Given the description of an element on the screen output the (x, y) to click on. 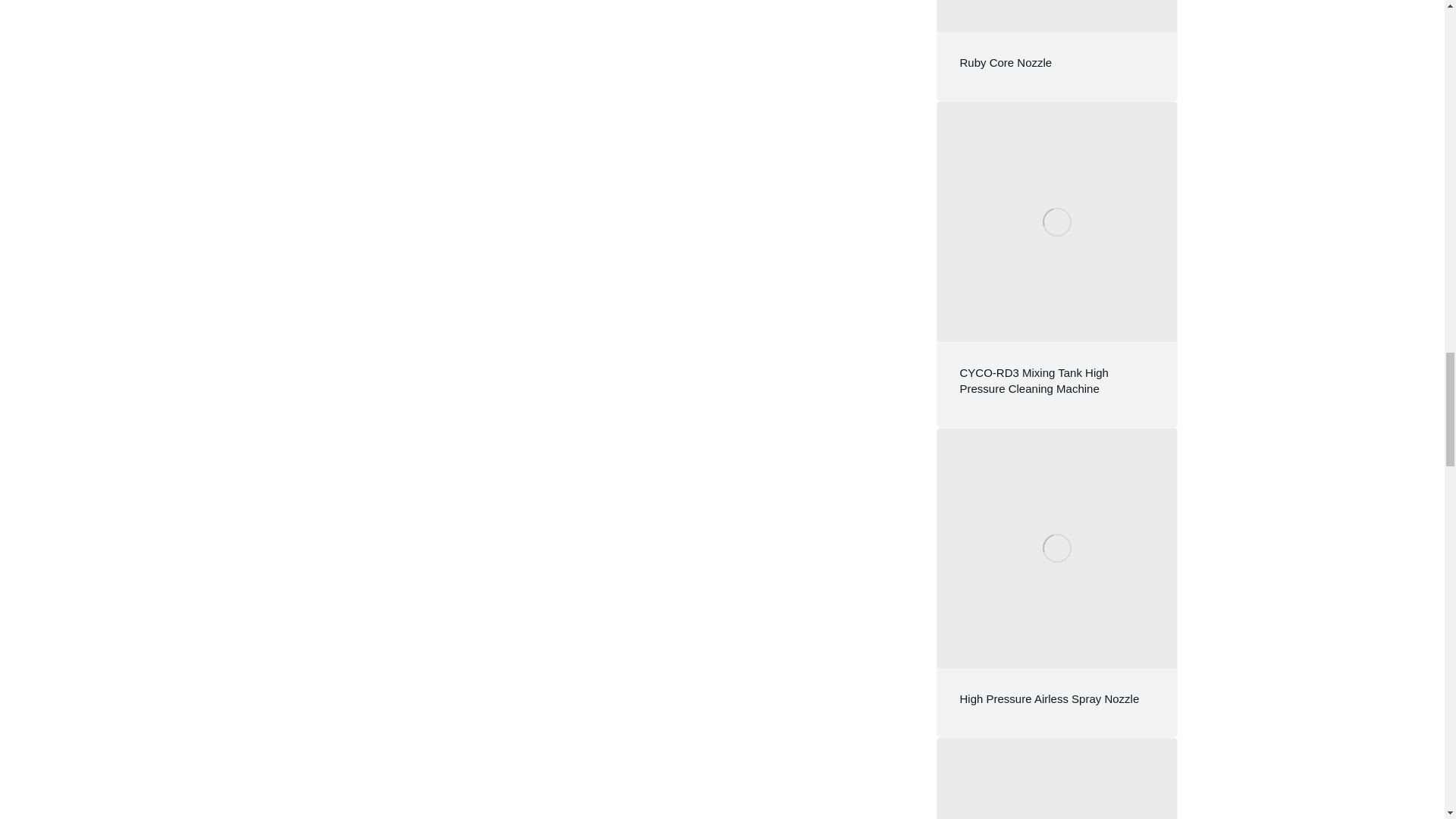
CYCO-RD3 Mixing Tank High Pressure Cleaning Machine (1033, 380)
High Pressure Airless Spray Nozzle (1049, 698)
Ruby Core Nozzle (1005, 62)
